Given the description of an element on the screen output the (x, y) to click on. 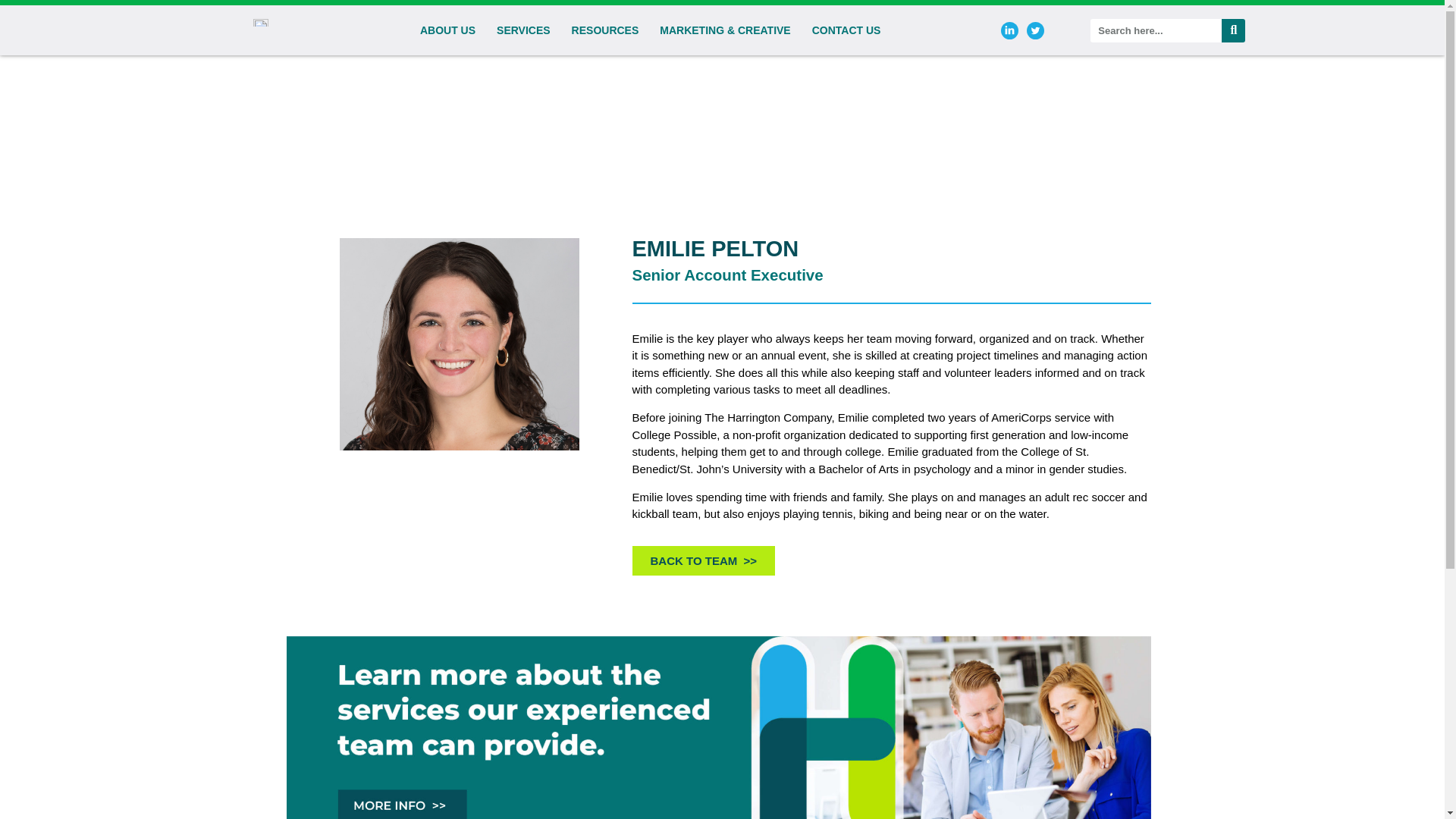
SERVICES (523, 30)
RESOURCES (604, 30)
ABOUT US (447, 30)
CONTACT US (846, 30)
Search (1155, 29)
Search (1232, 29)
